Given the description of an element on the screen output the (x, y) to click on. 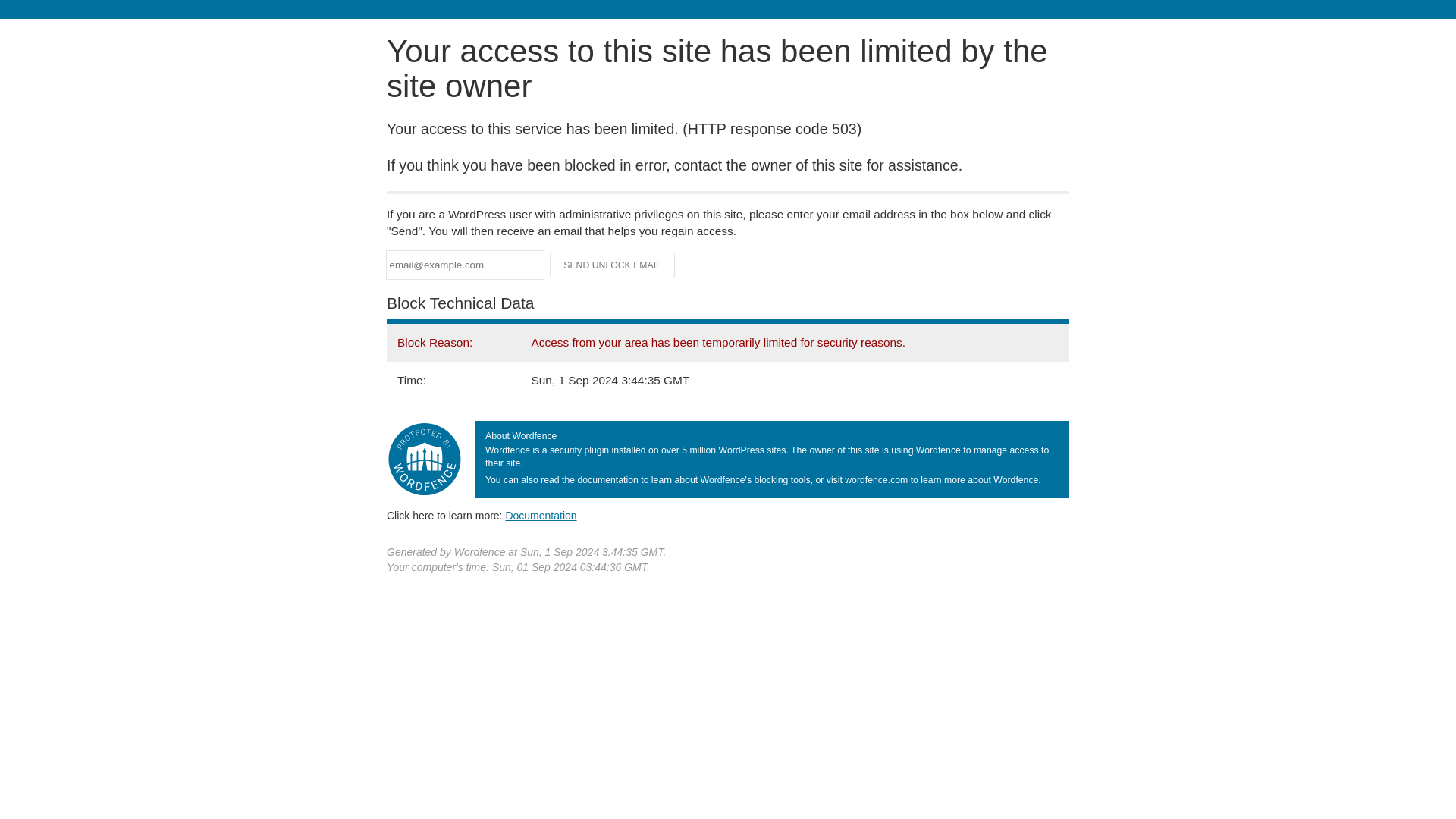
Send Unlock Email (612, 265)
Send Unlock Email (612, 265)
Documentation (540, 515)
